Given the description of an element on the screen output the (x, y) to click on. 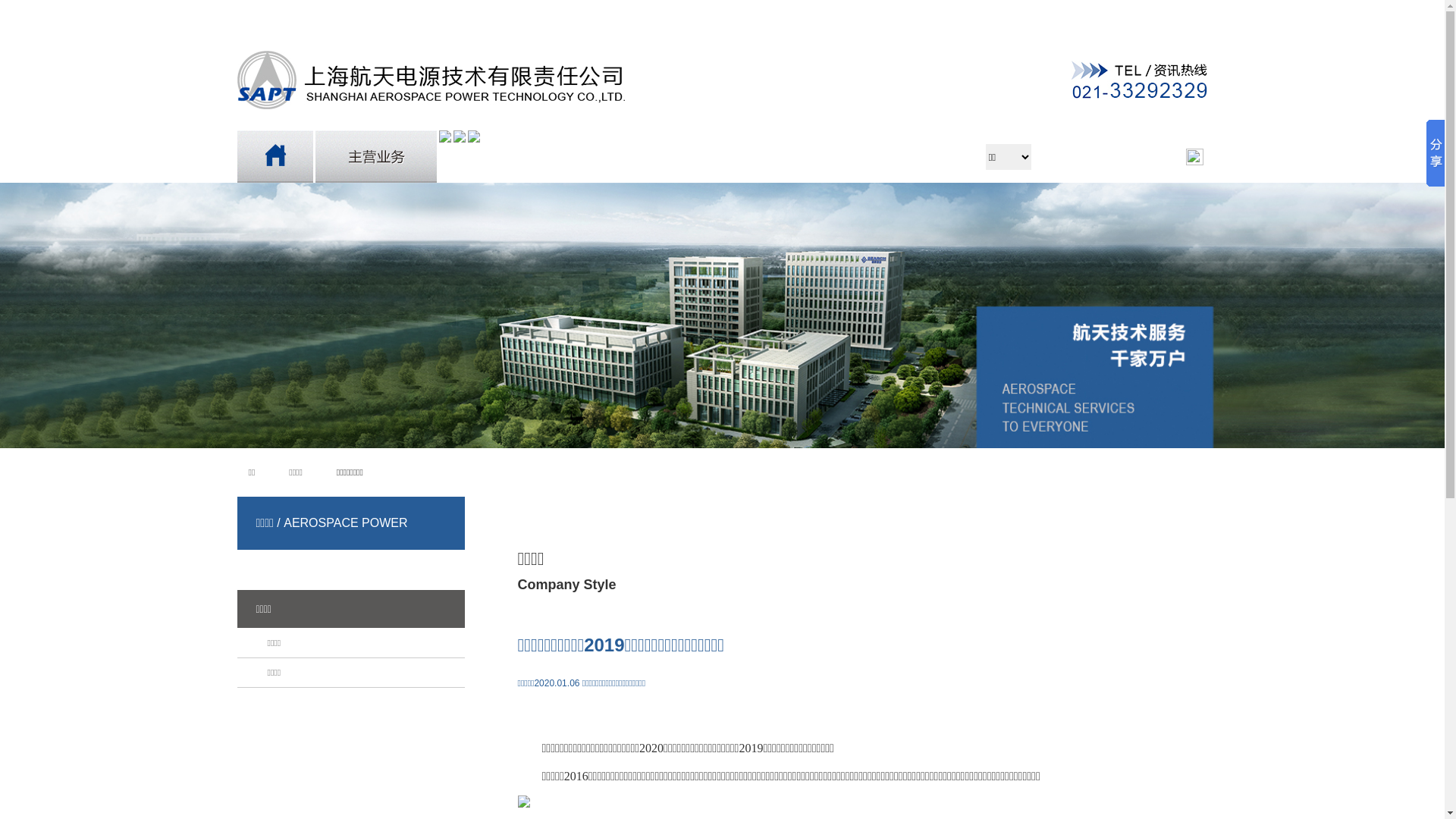
ENGLISH Element type: text (286, 14)
